Given the description of an element on the screen output the (x, y) to click on. 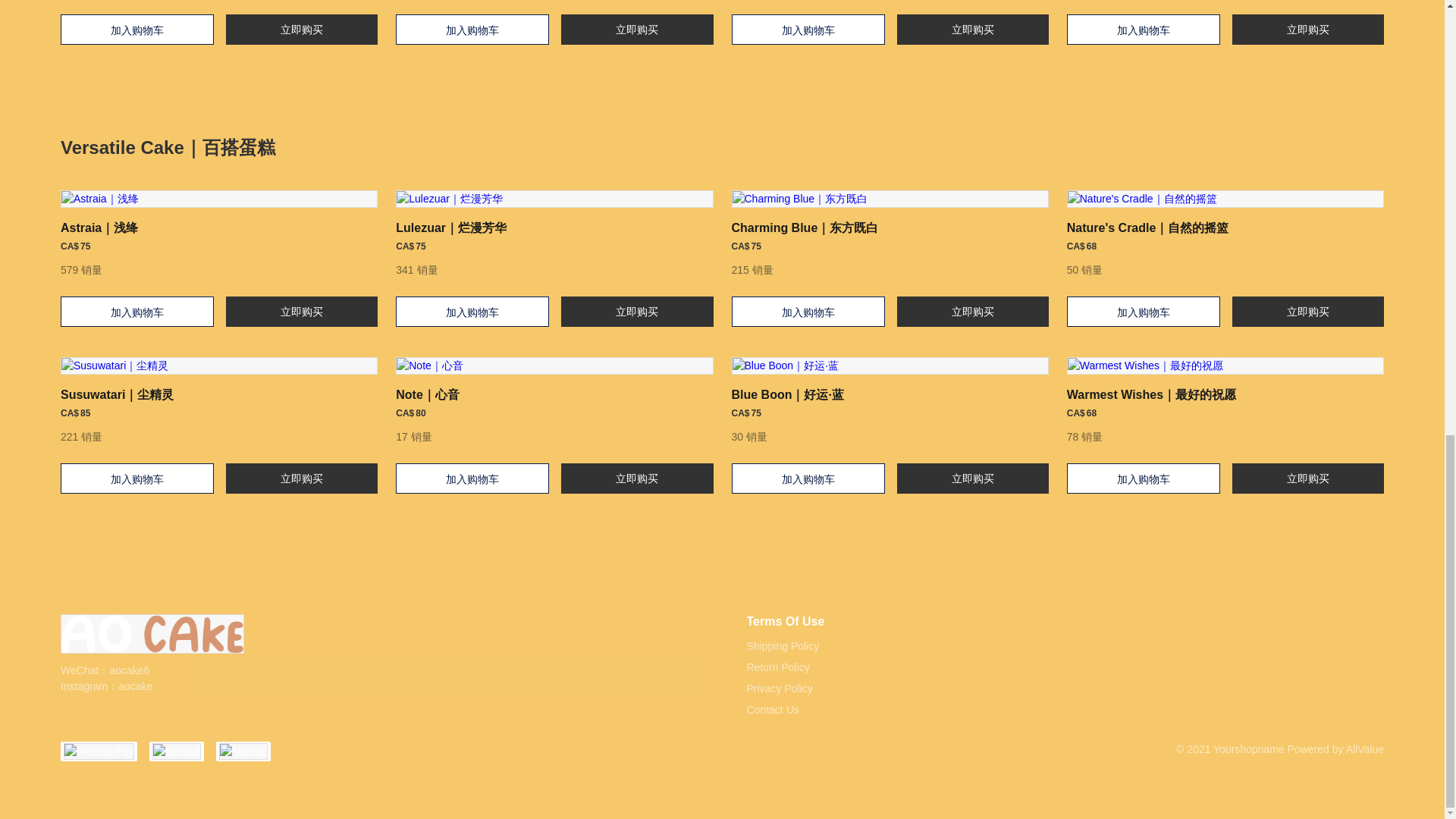
Wechat Pay (98, 751)
Manual (243, 751)
logo (152, 636)
Manual (176, 751)
